Given the description of an element on the screen output the (x, y) to click on. 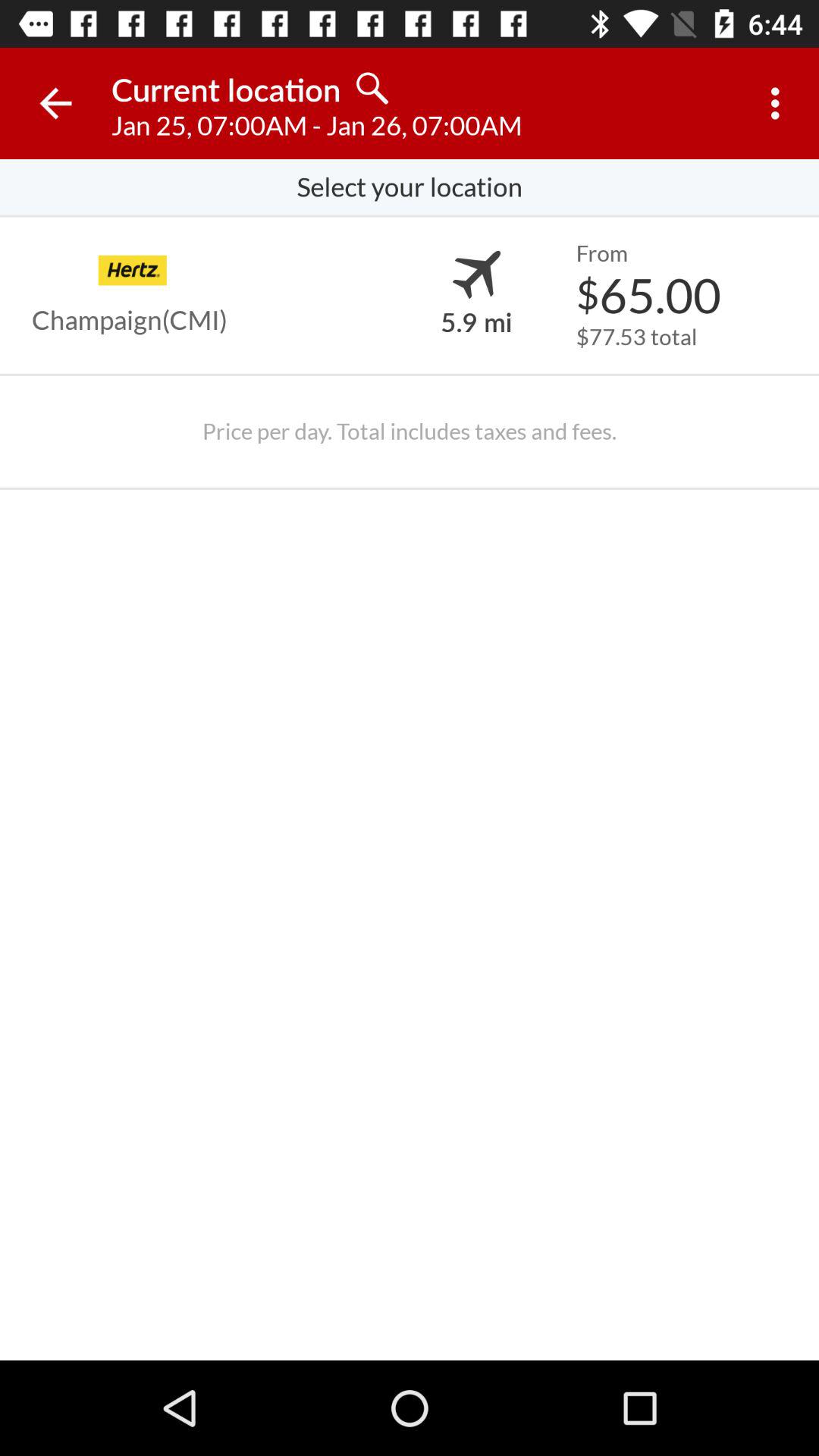
launch the item to the left of the current location icon (55, 103)
